Given the description of an element on the screen output the (x, y) to click on. 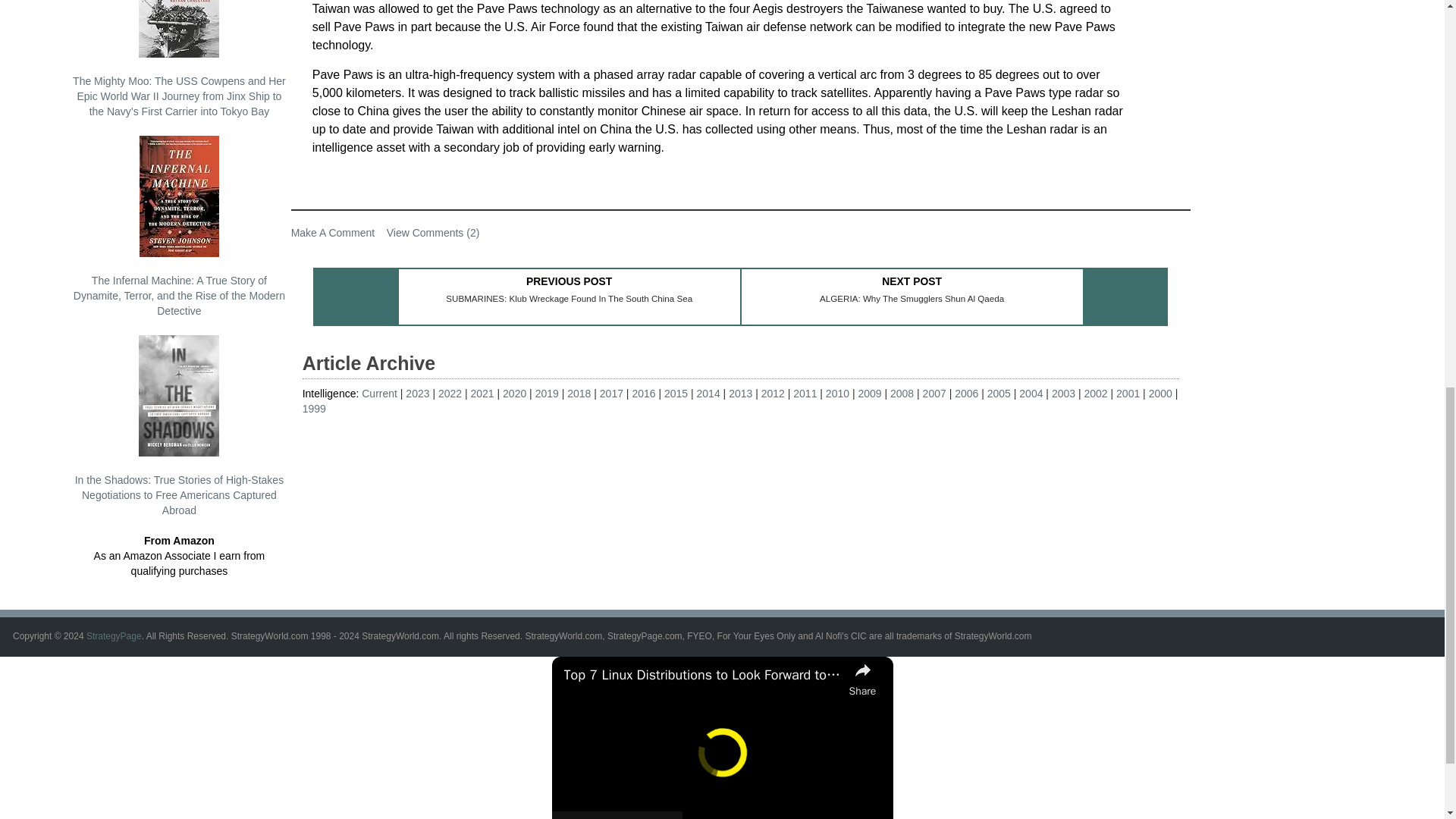
share (862, 677)
